Given the description of an element on the screen output the (x, y) to click on. 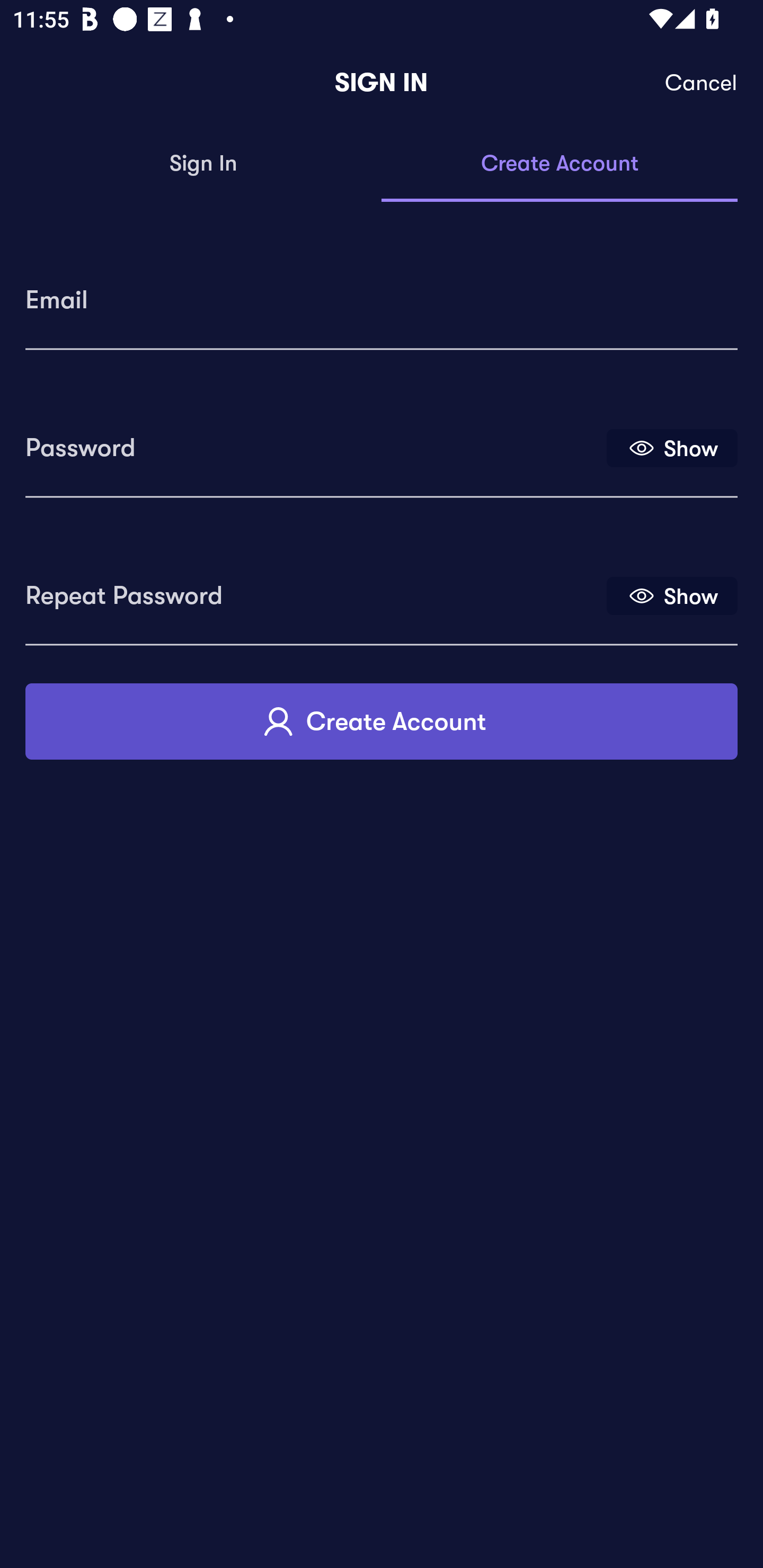
Cancel (701, 82)
Sign In (203, 164)
Create Account (559, 164)
Email (381, 293)
Password (314, 441)
Show Password Show (671, 447)
Repeat Password (314, 589)
Show Repeat Password Show (671, 595)
Create Account (381, 720)
